Given the description of an element on the screen output the (x, y) to click on. 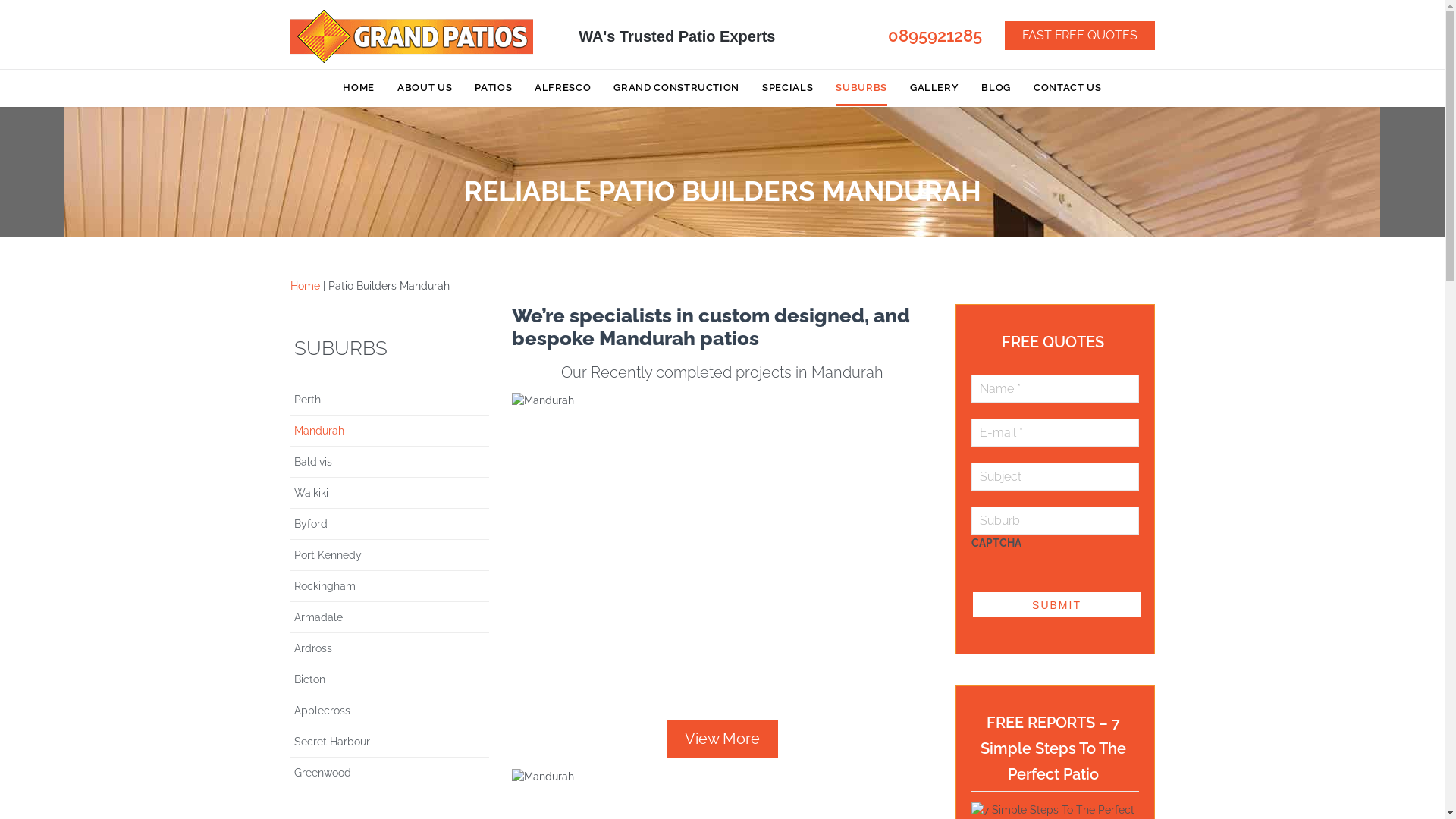
FAST FREE QUOTES Element type: text (1079, 35)
HOME Element type: text (358, 89)
View More Element type: text (722, 738)
CONTACT US Element type: text (1067, 89)
Bicton Element type: text (389, 679)
SPECIALS Element type: text (787, 89)
GRAND CONSTRUCTION Element type: text (676, 89)
Greenwood Element type: text (389, 772)
Armadale Element type: text (389, 617)
Perth Element type: text (389, 399)
Baldivis Element type: text (389, 461)
Waikiki Element type: text (389, 492)
SUBURBS Element type: text (389, 343)
Grand Patios Element type: hover (410, 35)
Applecross Element type: text (389, 710)
Mandurah Element type: text (389, 430)
ABOUT US Element type: text (424, 89)
Home Element type: text (304, 285)
SUBURBS Element type: text (861, 89)
ALFRESCO Element type: text (562, 89)
Byford Element type: text (389, 523)
SUBMIT Element type: text (1056, 604)
Secret Harbour Element type: text (389, 741)
Ardross Element type: text (389, 648)
0895921285 Element type: text (934, 37)
GALLERY Element type: text (934, 89)
Skip to content Element type: text (721, 69)
Rockingham Element type: text (389, 586)
PATIOS Element type: text (492, 89)
BLOG Element type: text (995, 89)
Port Kennedy Element type: text (389, 554)
